Given the description of an element on the screen output the (x, y) to click on. 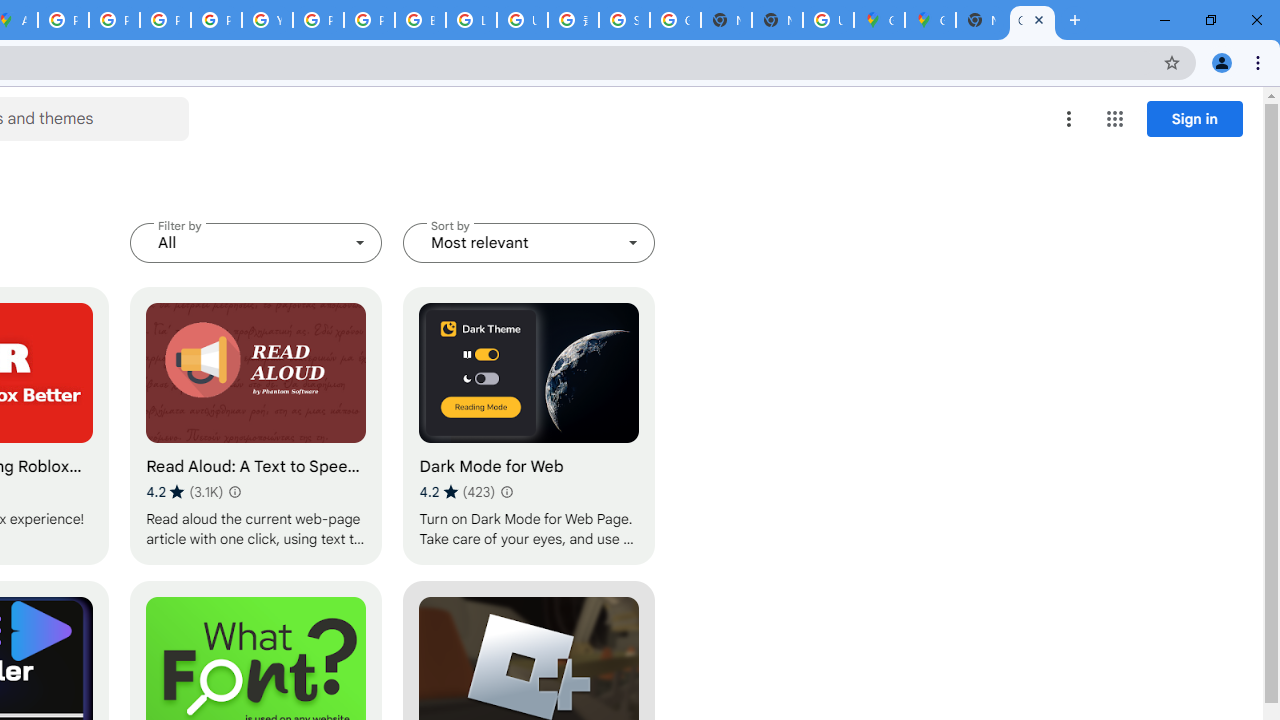
Learn more about results and reviews "Dark Mode for Web" (506, 491)
Chrome Web Store - Accessibility (1032, 20)
Sign in - Google Accounts (624, 20)
YouTube (267, 20)
Privacy Help Center - Policies Help (164, 20)
Use Google Maps in Space - Google Maps Help (827, 20)
